Given the description of an element on the screen output the (x, y) to click on. 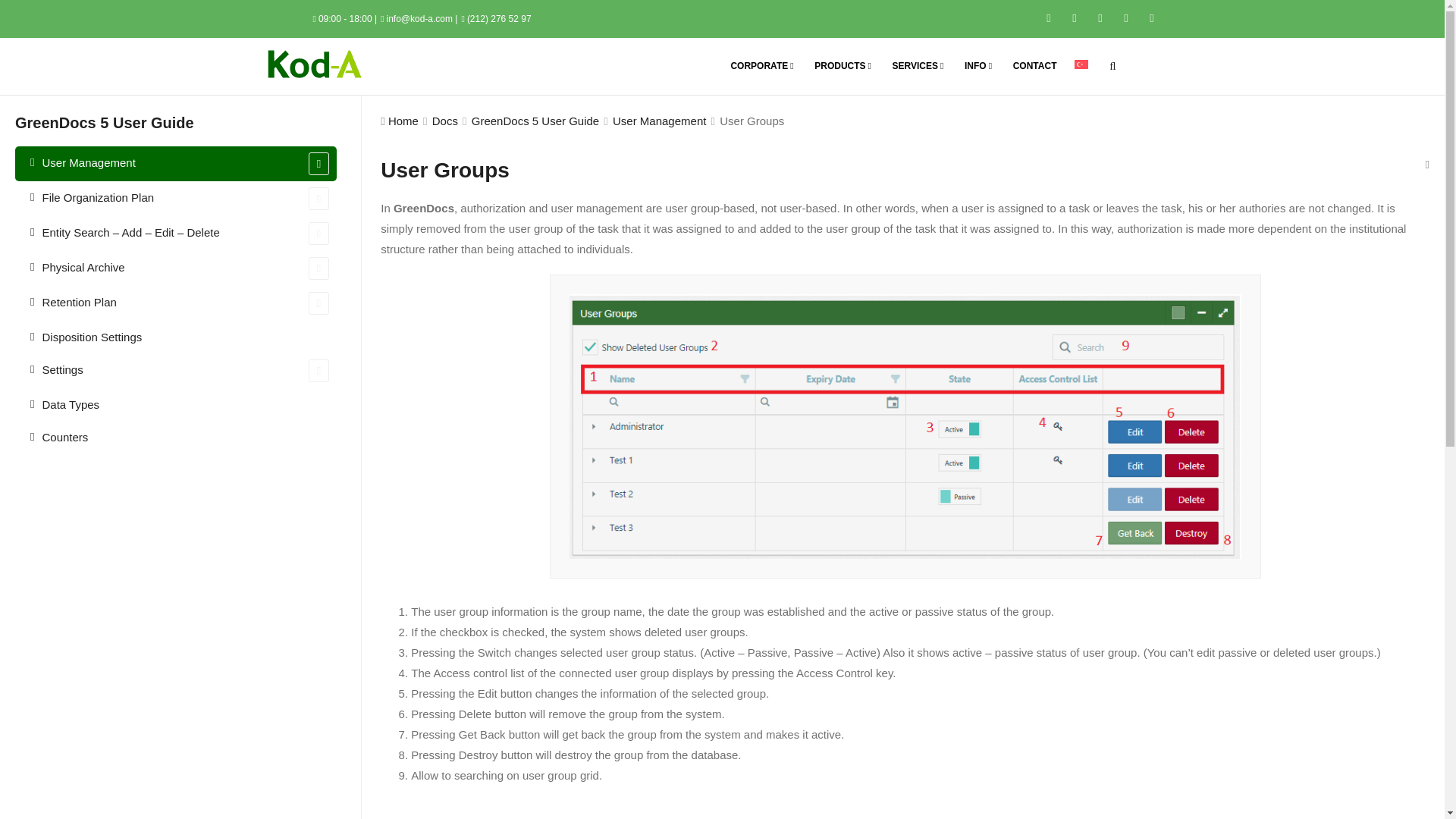
CORPORATE (762, 66)
